Given the description of an element on the screen output the (x, y) to click on. 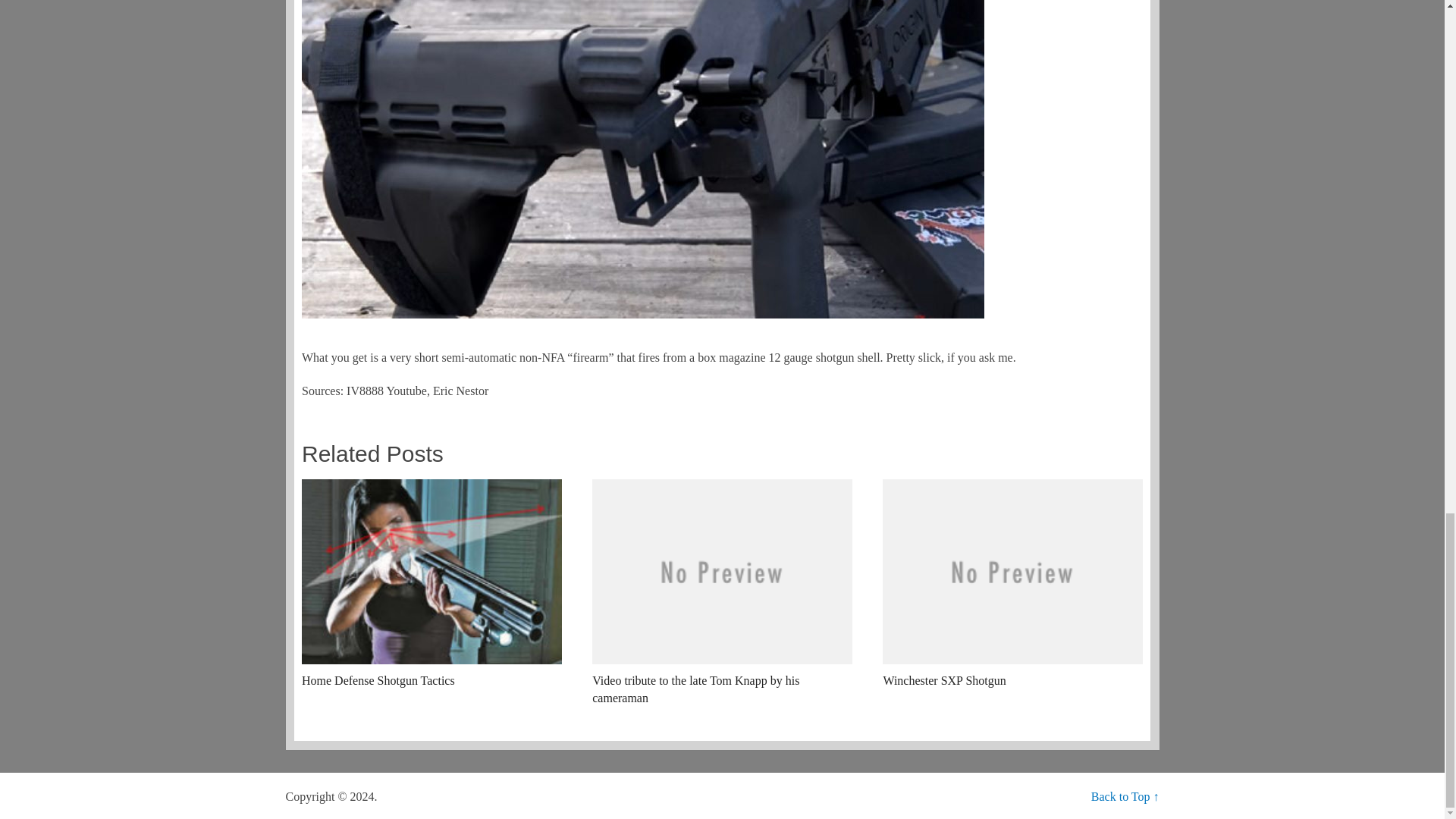
Home Defense Shotgun Tactics (430, 584)
Winchester SXP Shotgun (1011, 584)
Video tribute to the late Tom Knapp by his cameraman (721, 593)
